Given the description of an element on the screen output the (x, y) to click on. 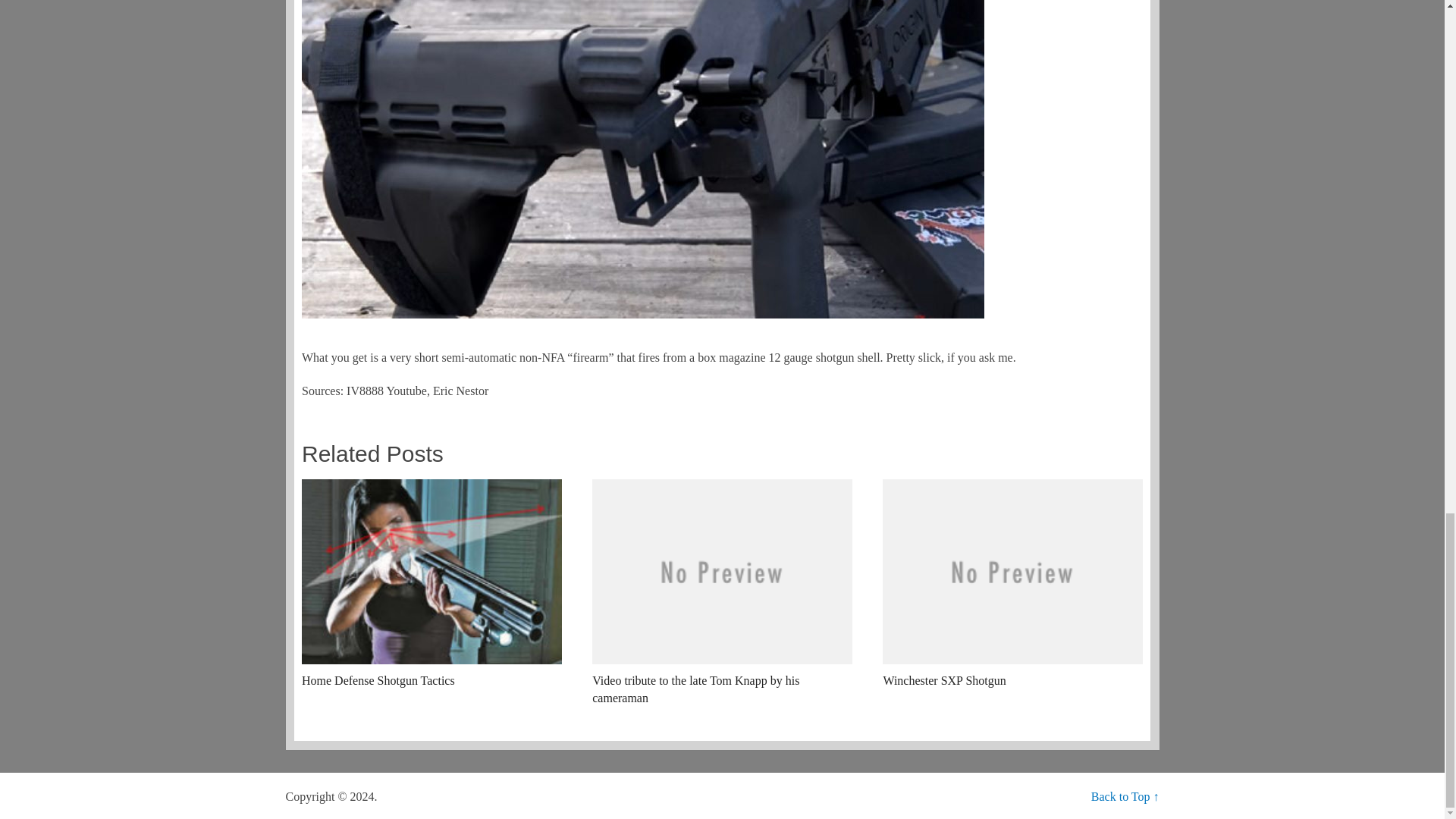
Home Defense Shotgun Tactics (430, 584)
Winchester SXP Shotgun (1011, 584)
Video tribute to the late Tom Knapp by his cameraman (721, 593)
